Given the description of an element on the screen output the (x, y) to click on. 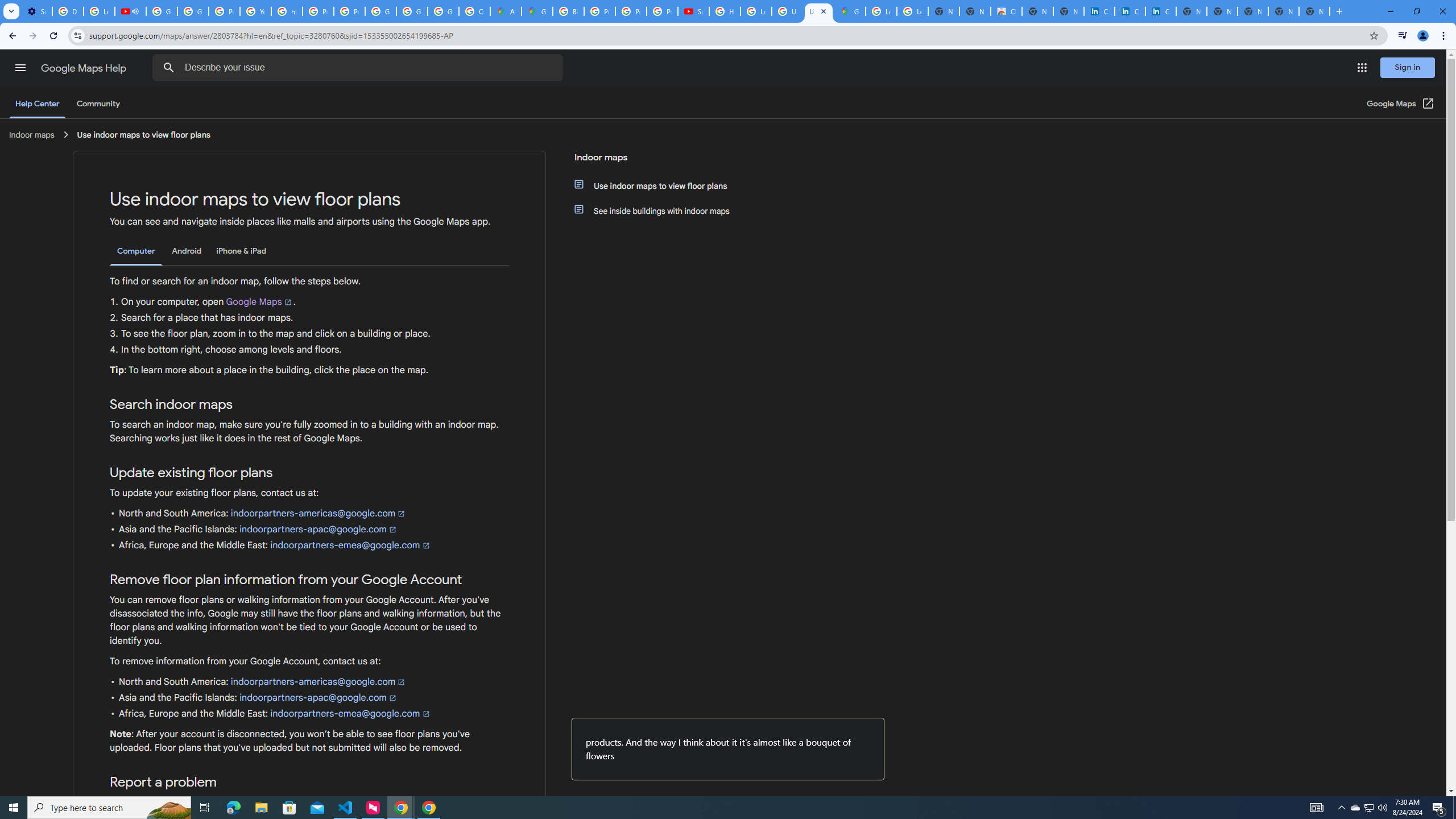
See inside buildings with indoor maps (661, 210)
Privacy Help Center - Policies Help (599, 11)
Indoor maps (656, 161)
Google Maps (536, 11)
Delete photos & videos - Computer - Google Photos Help (67, 11)
Subscriptions - YouTube (693, 11)
Google Account Help (161, 11)
Settings - Customize profile (36, 11)
